Given the description of an element on the screen output the (x, y) to click on. 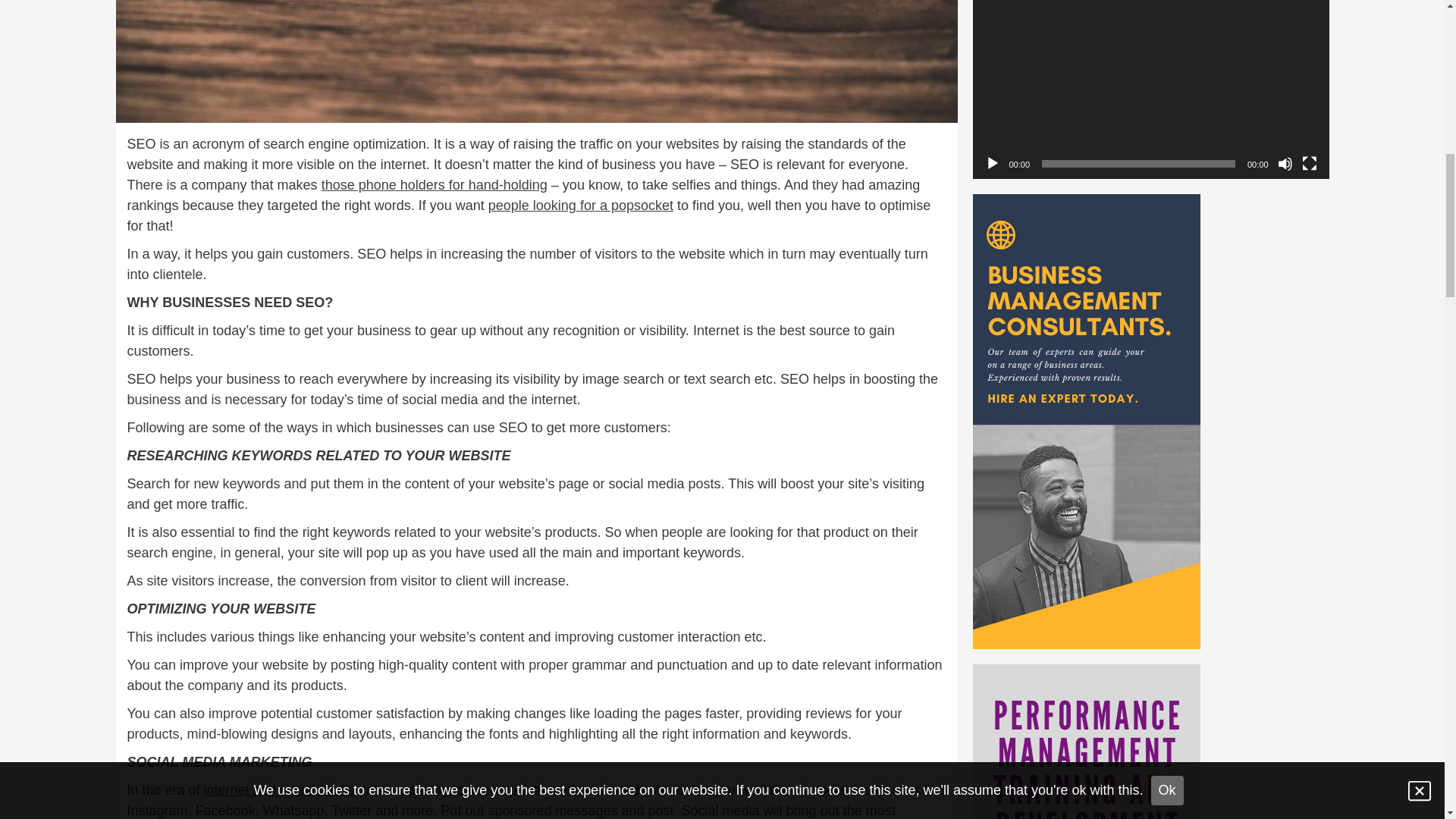
internet and social media (279, 789)
Fullscreen (1308, 163)
people looking for a popsocket (579, 205)
those phone holders for hand-holding (434, 184)
Mute (1284, 163)
Play (991, 163)
